Given the description of an element on the screen output the (x, y) to click on. 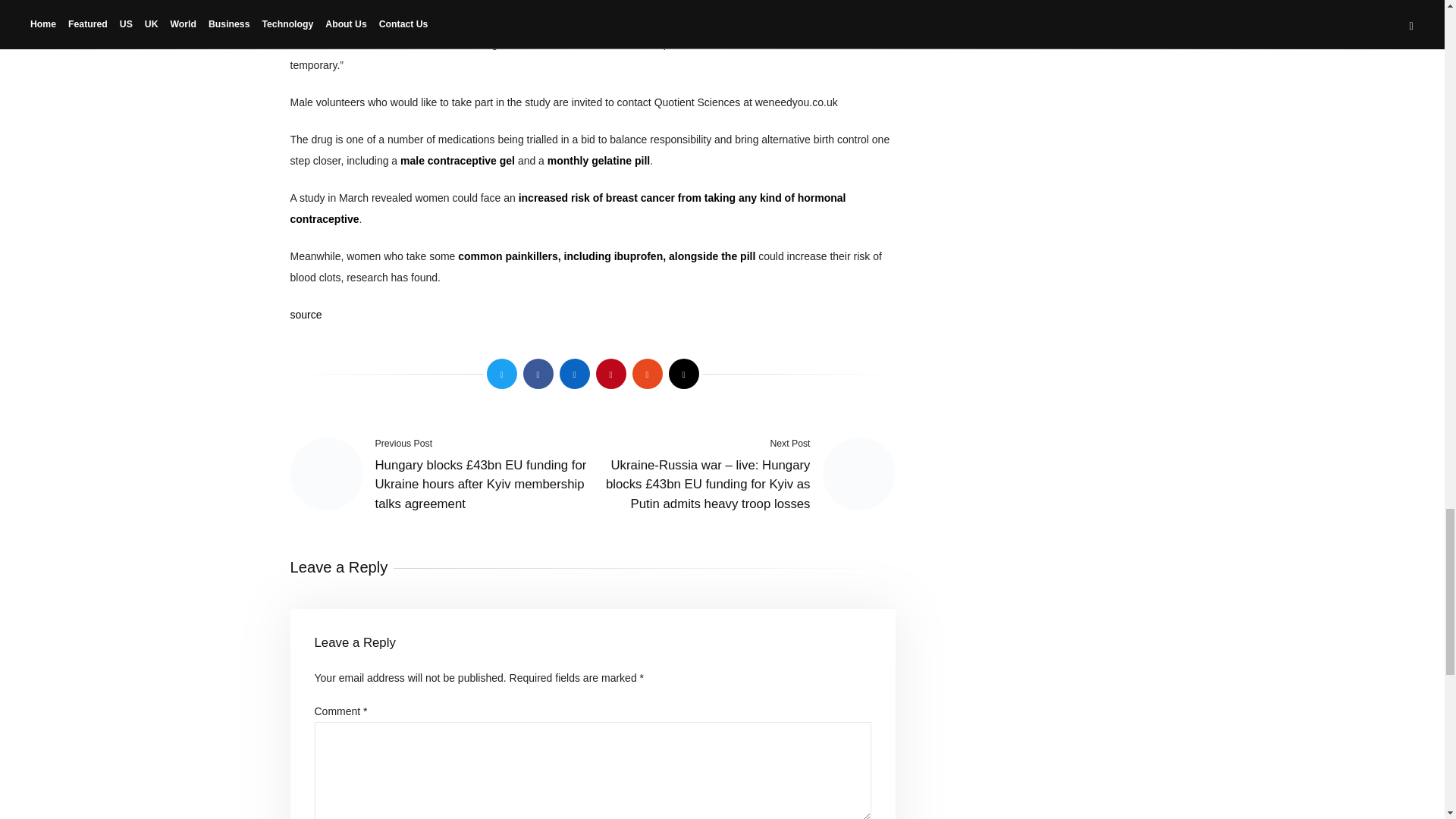
Share on Email (683, 373)
Tweet This! (501, 373)
Share on LinkedIn (574, 373)
common painkillers, including ibuprofen, alongside the pill (606, 256)
male contraceptive gel (457, 160)
Share on Facebook (537, 373)
monthly gelatine pill (598, 160)
Share on Reddit (646, 373)
Pin this! (610, 373)
